Given the description of an element on the screen output the (x, y) to click on. 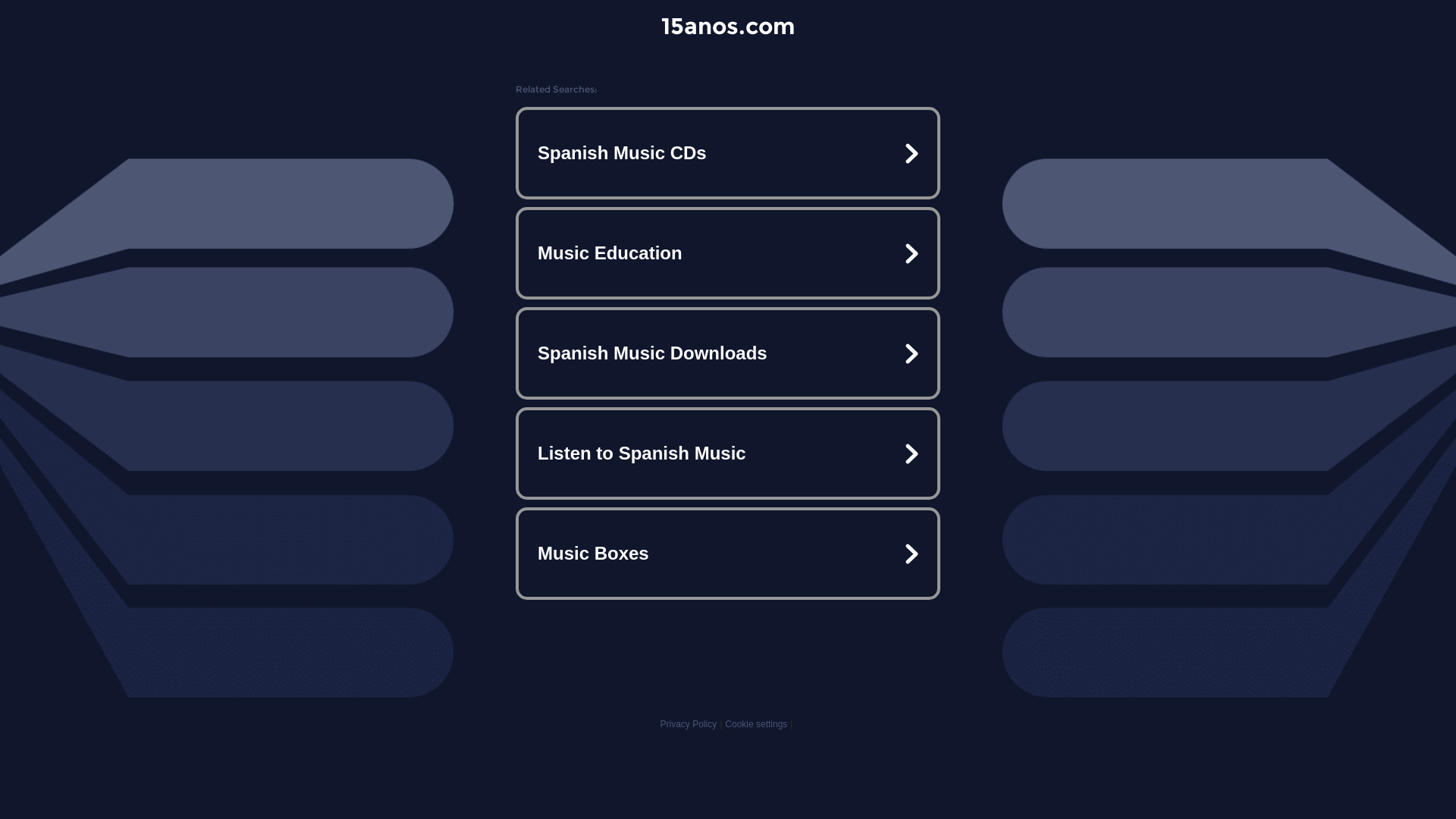
Music Education Element type: text (727, 253)
Cookie settings Element type: text (755, 723)
Music Boxes Element type: text (727, 553)
Spanish Music Downloads Element type: text (727, 353)
Listen to Spanish Music Element type: text (727, 453)
Spanish Music CDs Element type: text (727, 152)
Privacy Policy Element type: text (687, 723)
15anos.com Element type: text (727, 26)
